Given the description of an element on the screen output the (x, y) to click on. 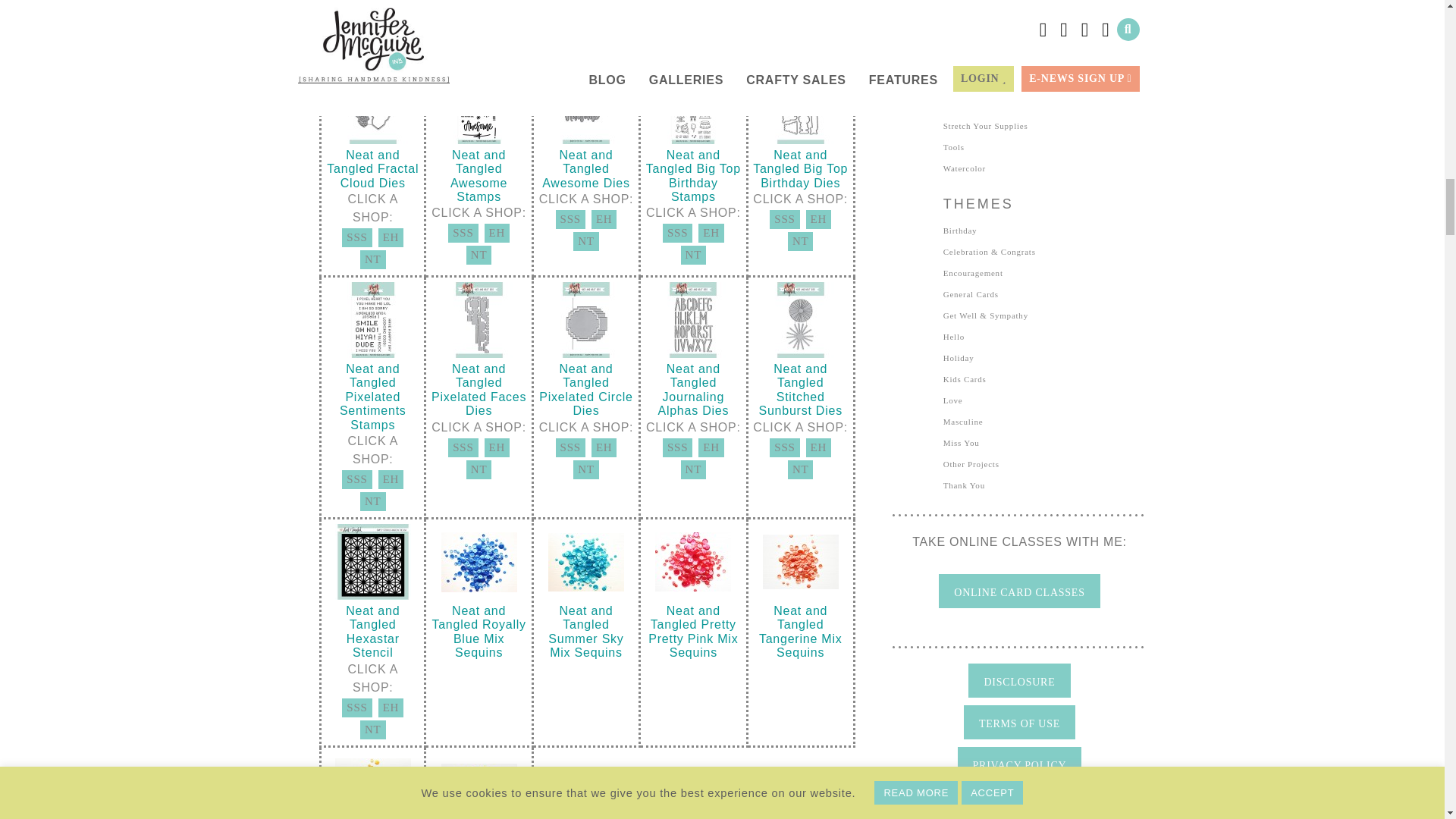
Neat and Tangled Say Yes to Donuts Dies (462, 7)
Neat and Tangled Say Yes to Donuts Stamps (356, 23)
Neat and Tangled Say Yes to Donuts Stamps (391, 23)
Neat and Tangled Say Yes to Donuts Dies (497, 7)
Neat and Tangled Say Yes to Donuts Stamps (372, 45)
